Given the description of an element on the screen output the (x, y) to click on. 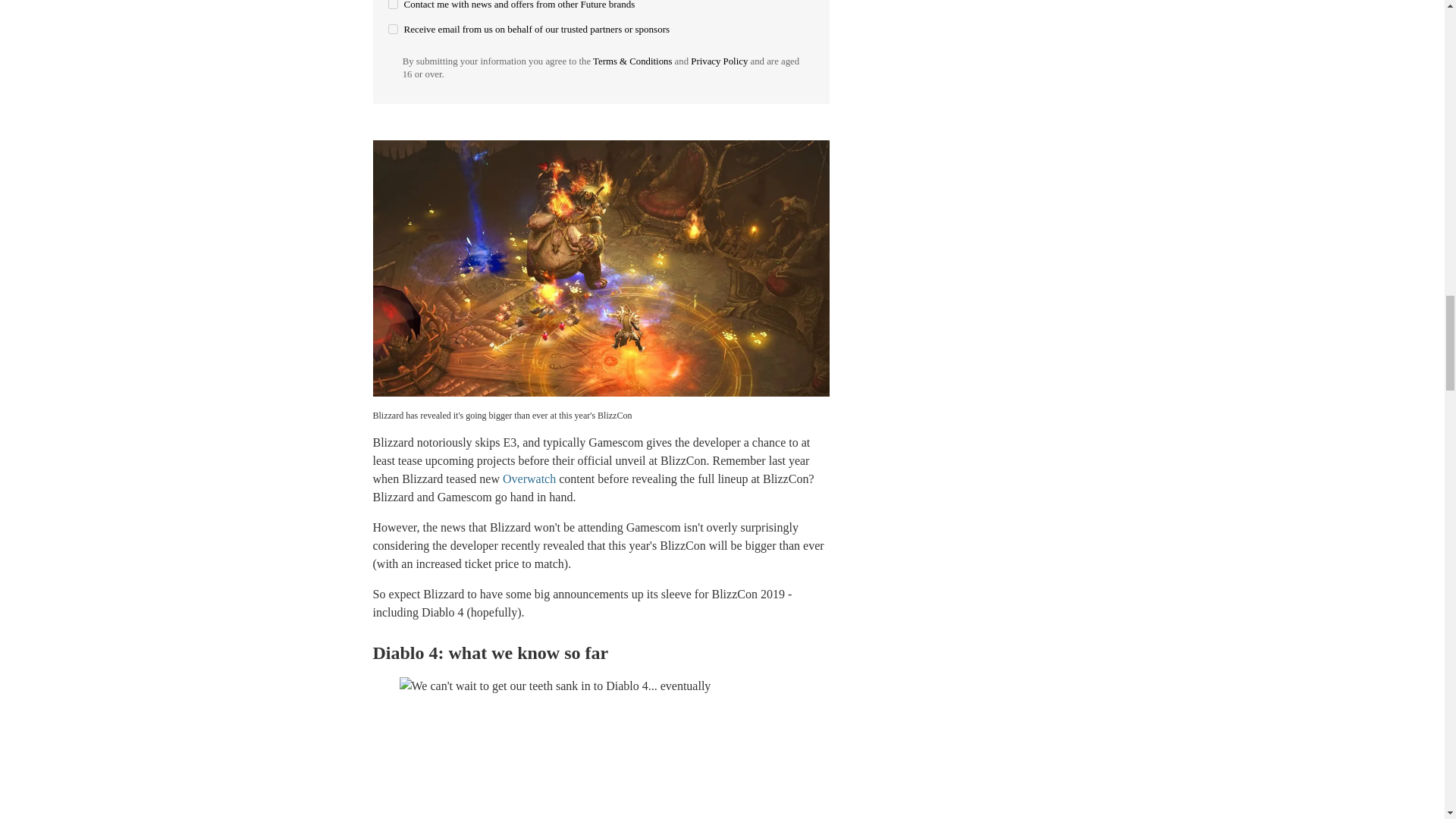
on (392, 29)
on (392, 4)
